Given the description of an element on the screen output the (x, y) to click on. 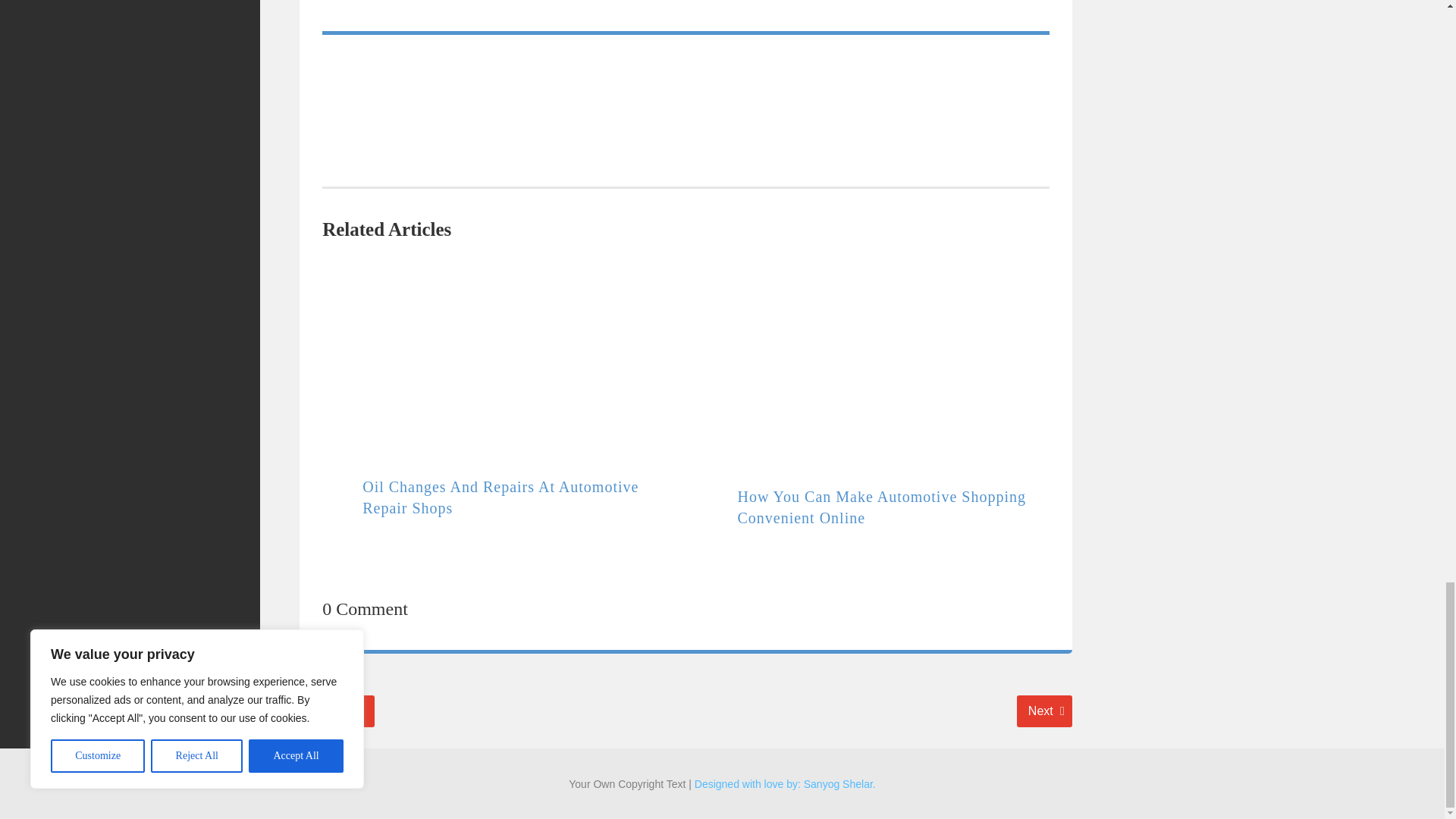
Oil Changes And Repairs At Automotive Repair Shops (335, 711)
How You Can Make Automotive Shopping Convenient Online (500, 497)
